Given the description of an element on the screen output the (x, y) to click on. 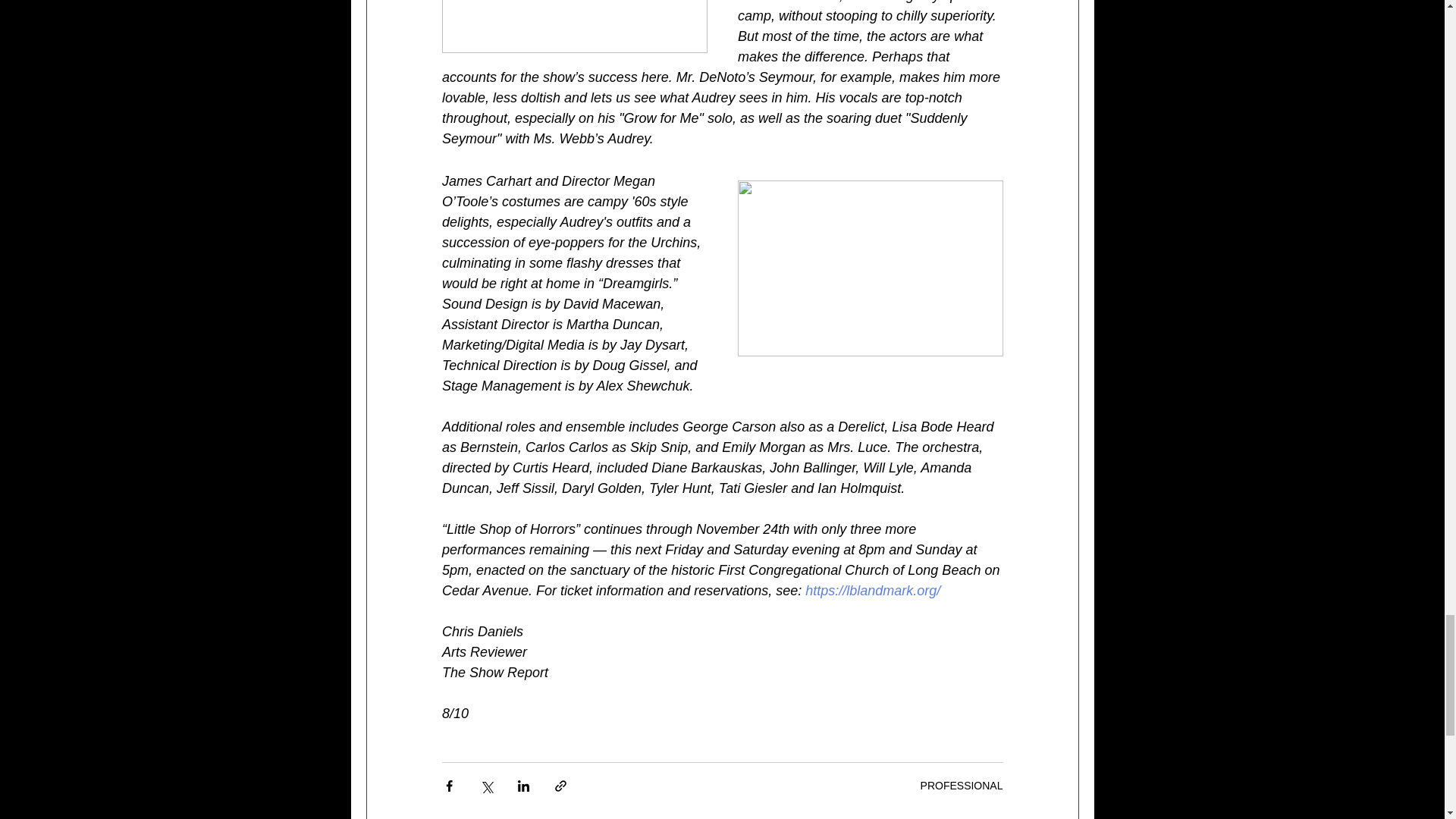
PROFESSIONAL (961, 785)
